Given the description of an element on the screen output the (x, y) to click on. 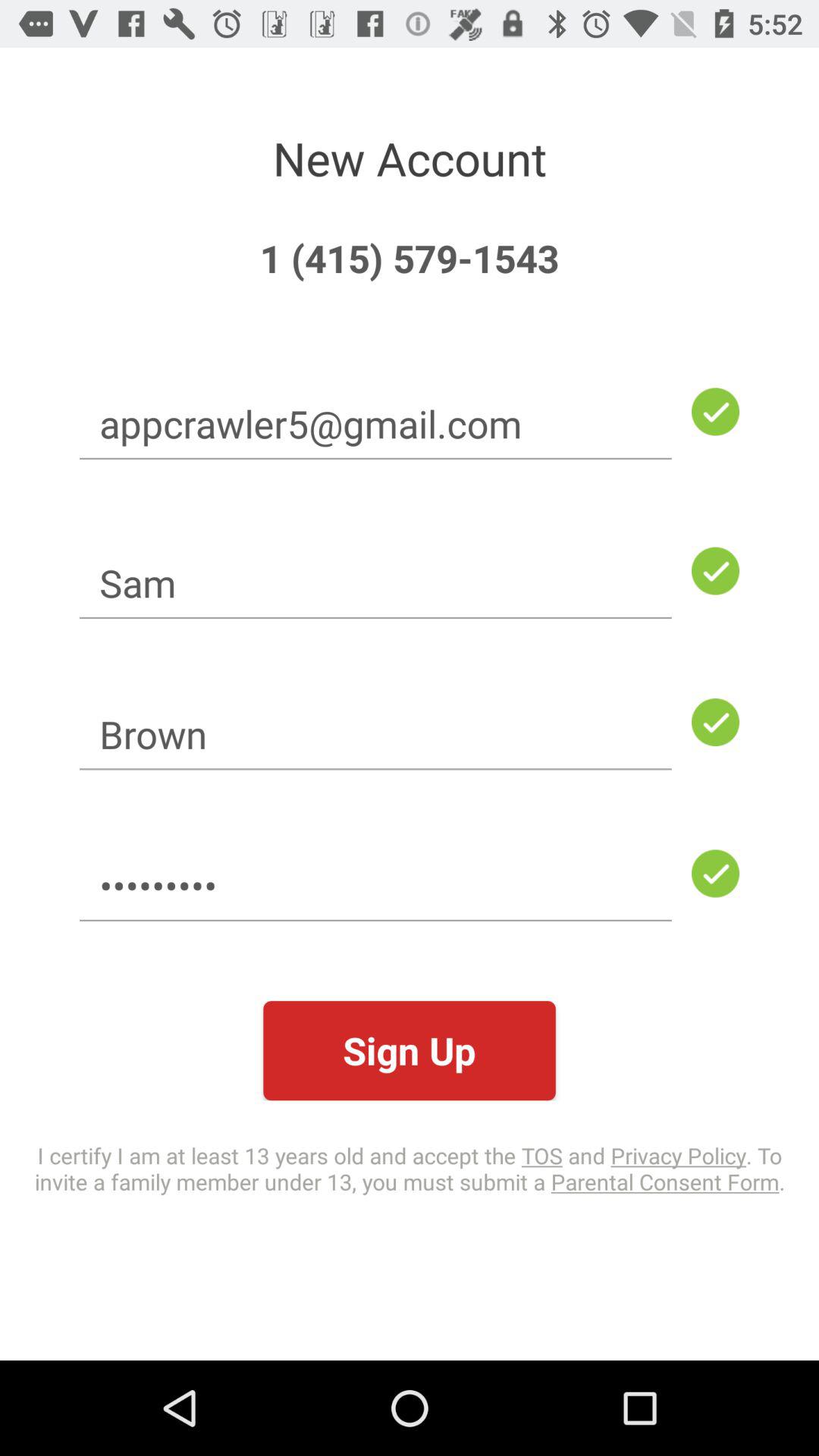
choose item above sam item (375, 423)
